Given the description of an element on the screen output the (x, y) to click on. 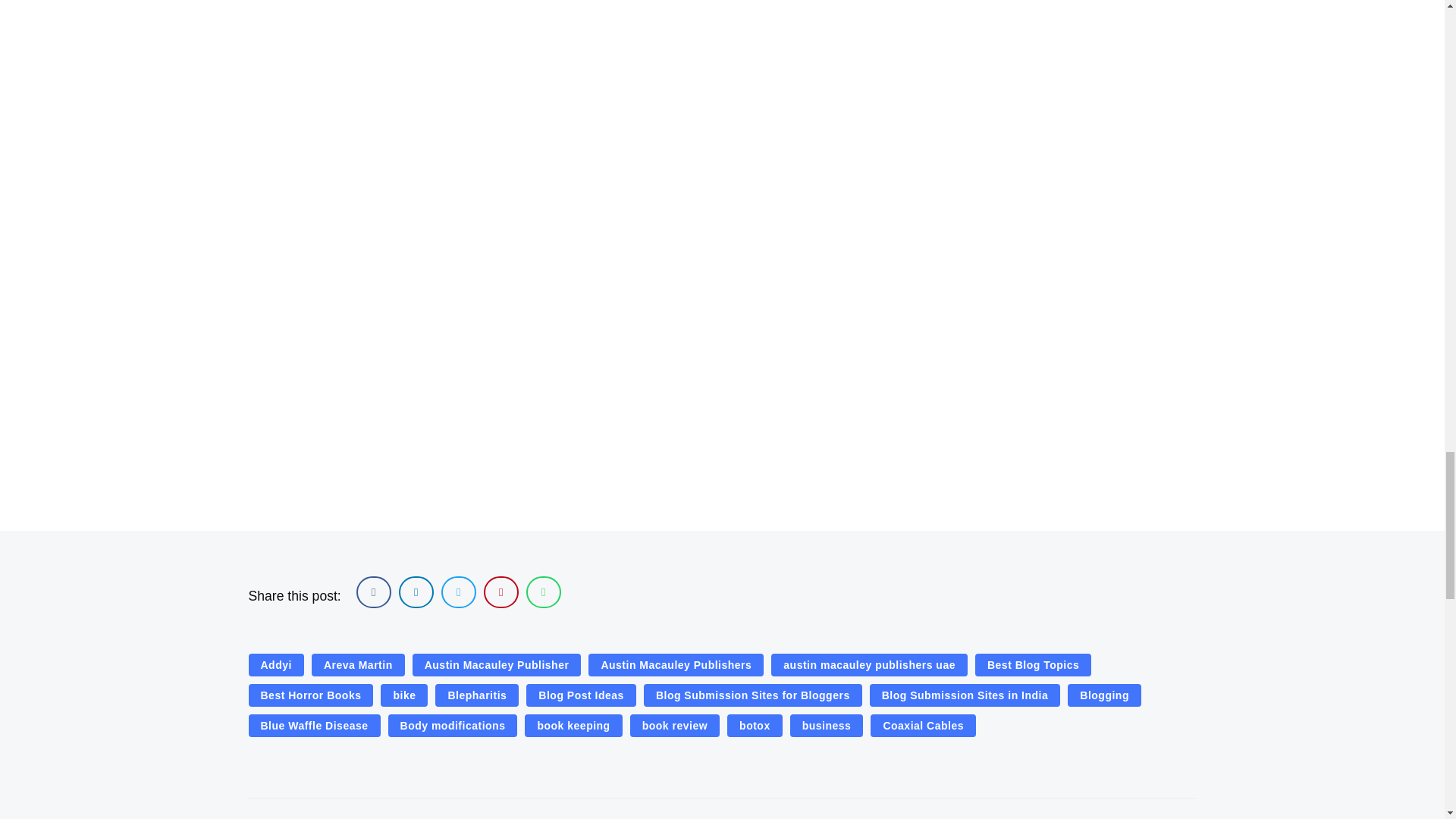
Addyi (276, 664)
Areva Martin (357, 664)
Austin Macauley Publisher (496, 664)
Austin Macauley Publishers (675, 664)
